Given the description of an element on the screen output the (x, y) to click on. 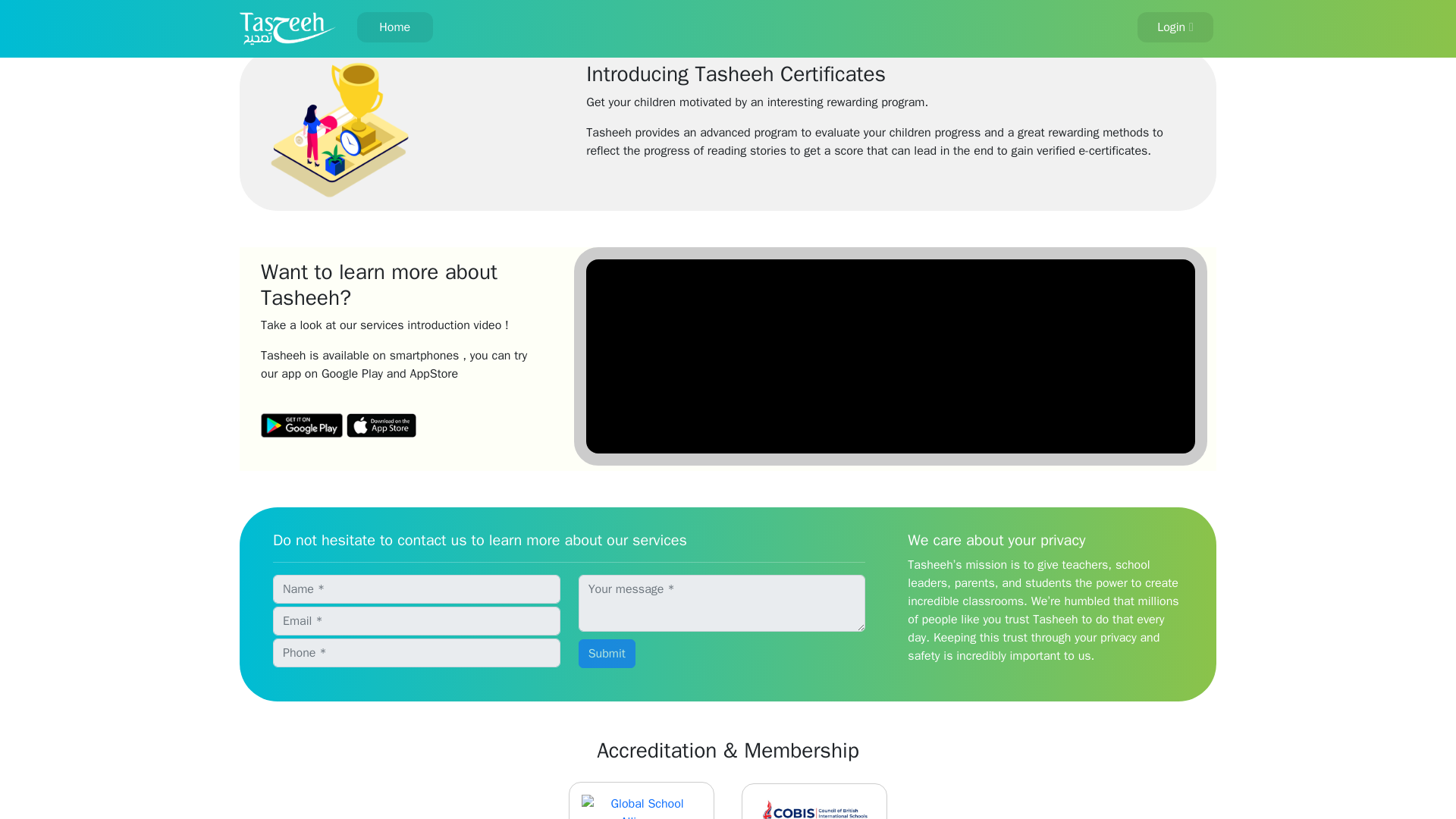
Submit (606, 653)
Submit (606, 653)
